Given the description of an element on the screen output the (x, y) to click on. 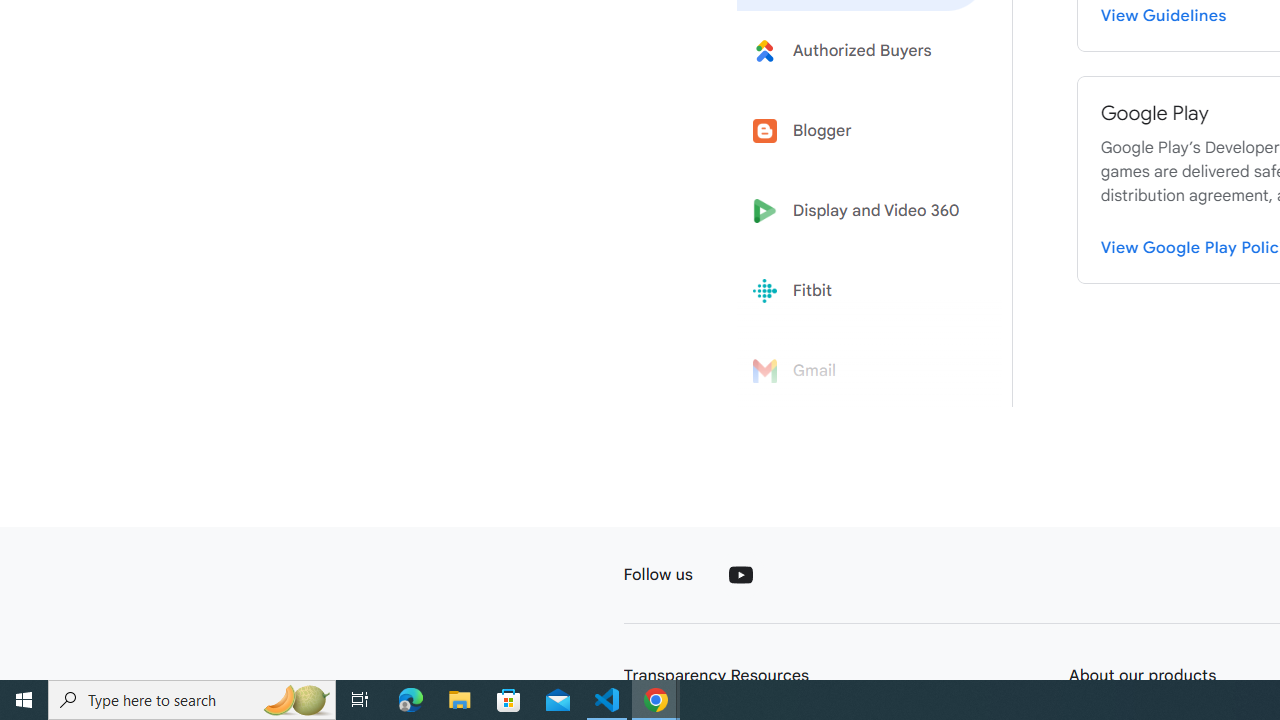
Blogger (862, 130)
Learn more about Authorized Buyers (862, 50)
Gmail (862, 371)
Display and Video 360 (862, 211)
YouTube (740, 574)
Blogger (862, 130)
Gmail (862, 371)
Learn more about Authorized Buyers (862, 50)
Fitbit (862, 291)
Fitbit (862, 291)
Display and Video 360 (862, 211)
